Given the description of an element on the screen output the (x, y) to click on. 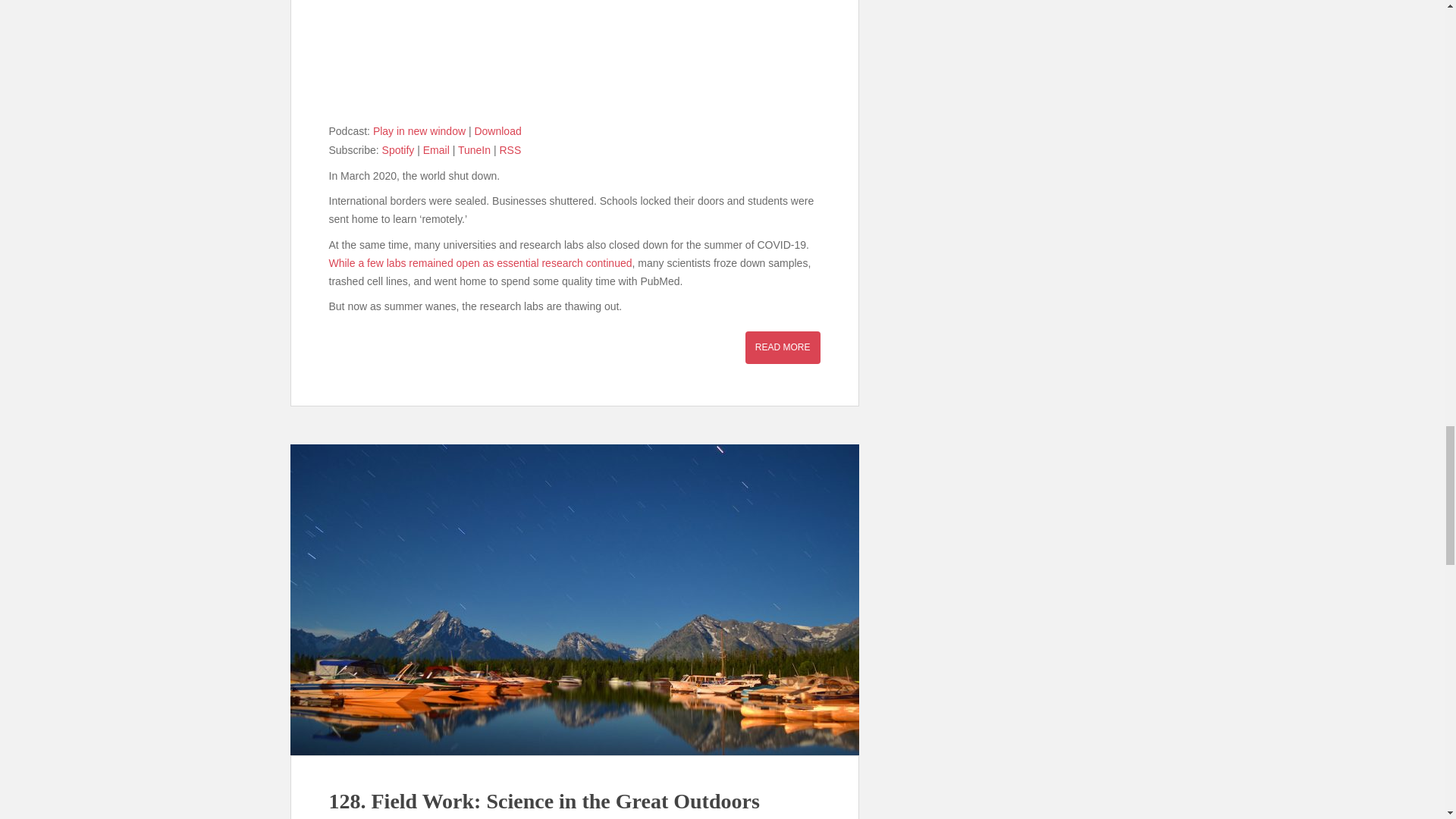
Blubrry Podcast Player (575, 58)
Download (497, 131)
Email (436, 150)
Play in new window (418, 131)
Play in new window (418, 131)
Spotify (397, 150)
